Given the description of an element on the screen output the (x, y) to click on. 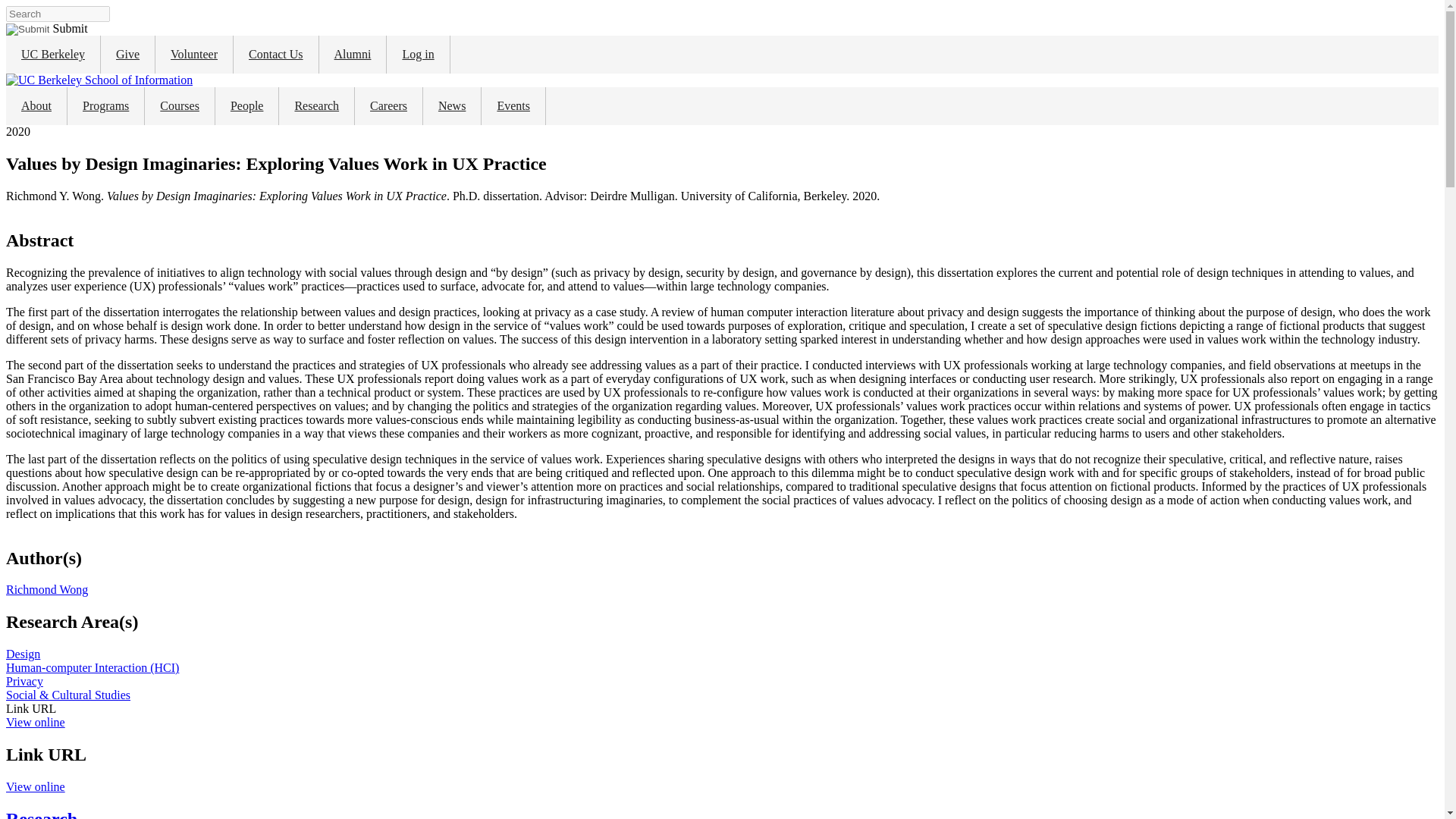
Programs (105, 105)
Contact Us (275, 54)
Log in (417, 54)
UC Berkeley (52, 54)
Search (27, 29)
Alumni (352, 54)
Give (127, 54)
Volunteer (193, 54)
About (35, 105)
